Given the description of an element on the screen output the (x, y) to click on. 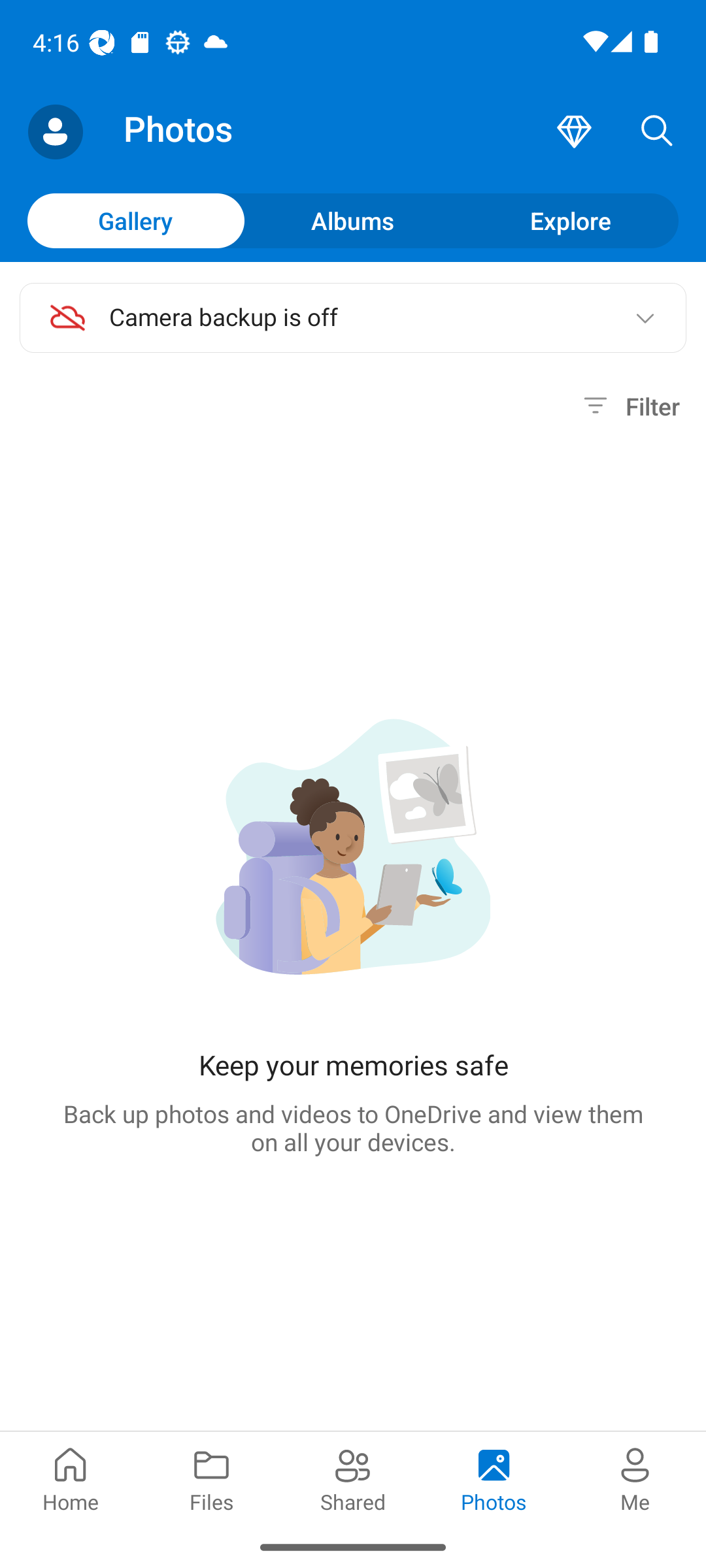
Account switcher (55, 131)
Premium button (574, 131)
Search button (656, 131)
Albums (352, 219)
Explore (569, 219)
Expand camera status banner (645, 318)
Filter (628, 405)
Home pivot Home (70, 1478)
Files pivot Files (211, 1478)
Shared pivot Shared (352, 1478)
Me pivot Me (635, 1478)
